Given the description of an element on the screen output the (x, y) to click on. 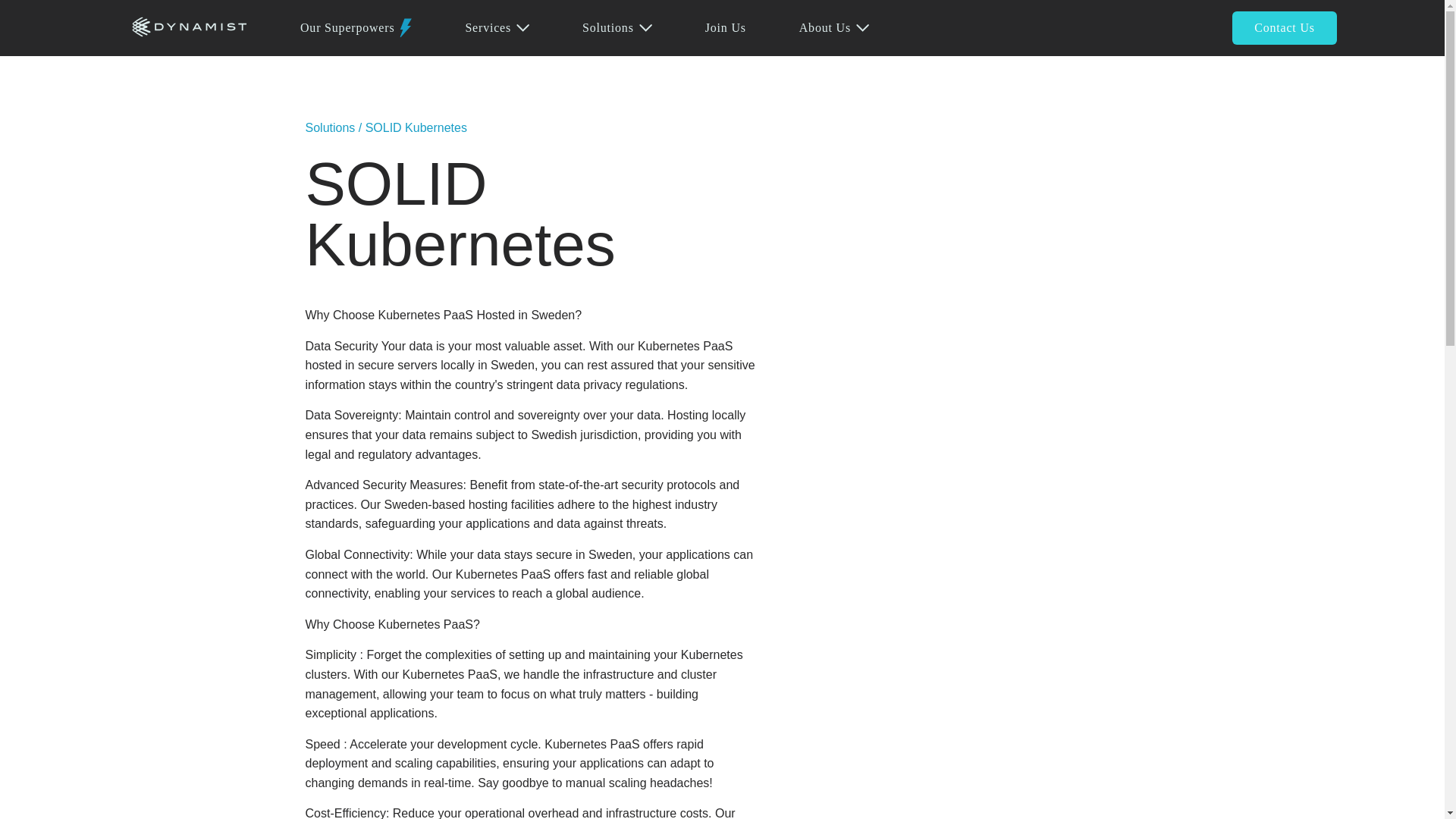
Join Us (724, 28)
Contact Us (1283, 28)
Our Superpowers (346, 28)
